Given the description of an element on the screen output the (x, y) to click on. 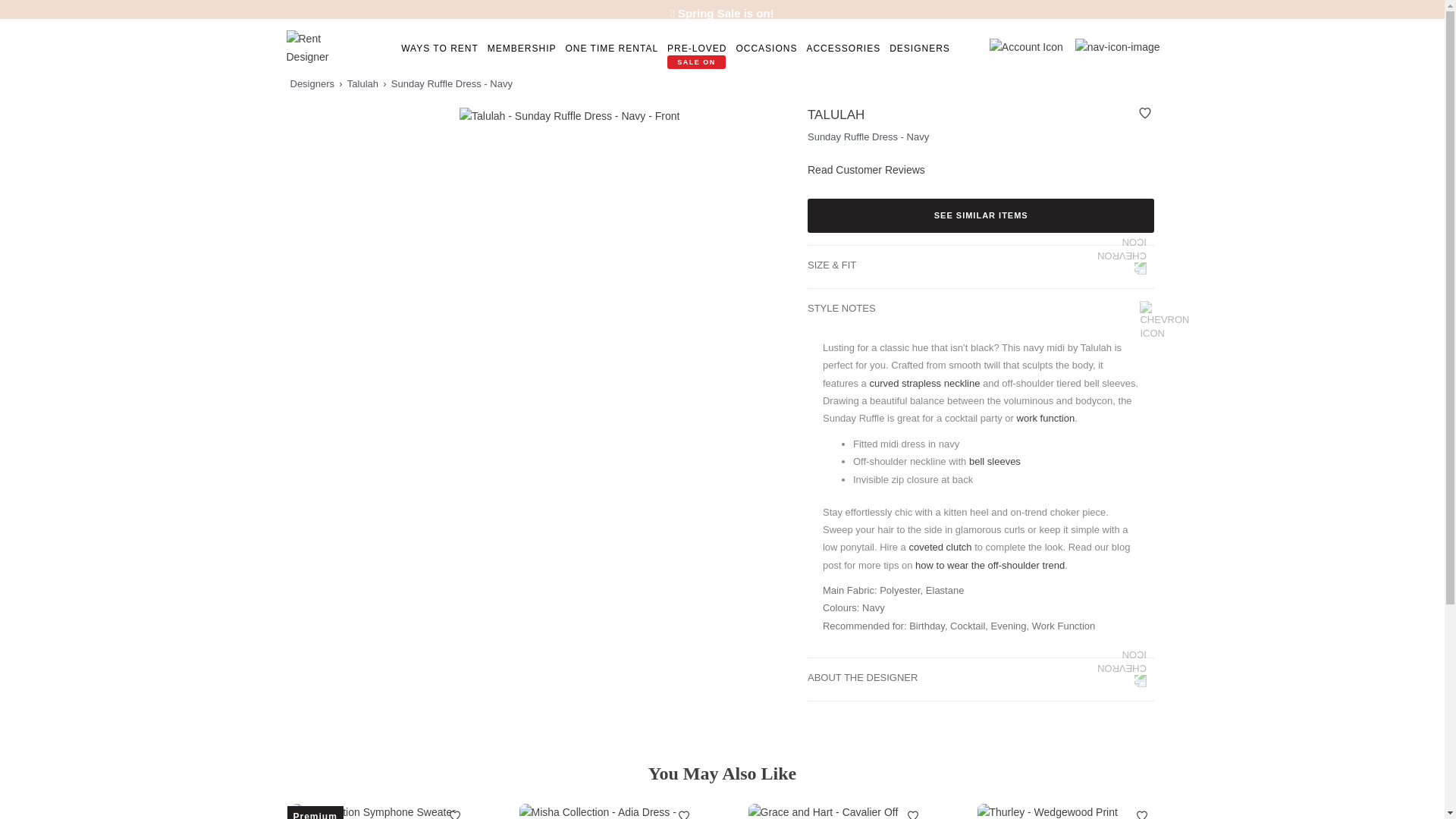
MEMBERSHIP (521, 48)
Rent Designer Dresses Online - Glam Corner (316, 47)
WAYS TO RENT (439, 48)
